Given the description of an element on the screen output the (x, y) to click on. 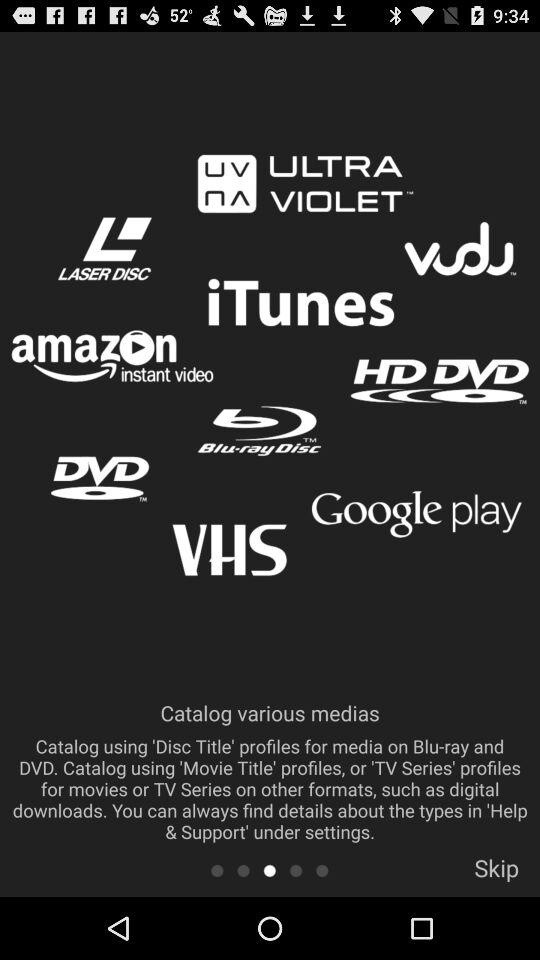
scroll to the next tab (321, 870)
